Given the description of an element on the screen output the (x, y) to click on. 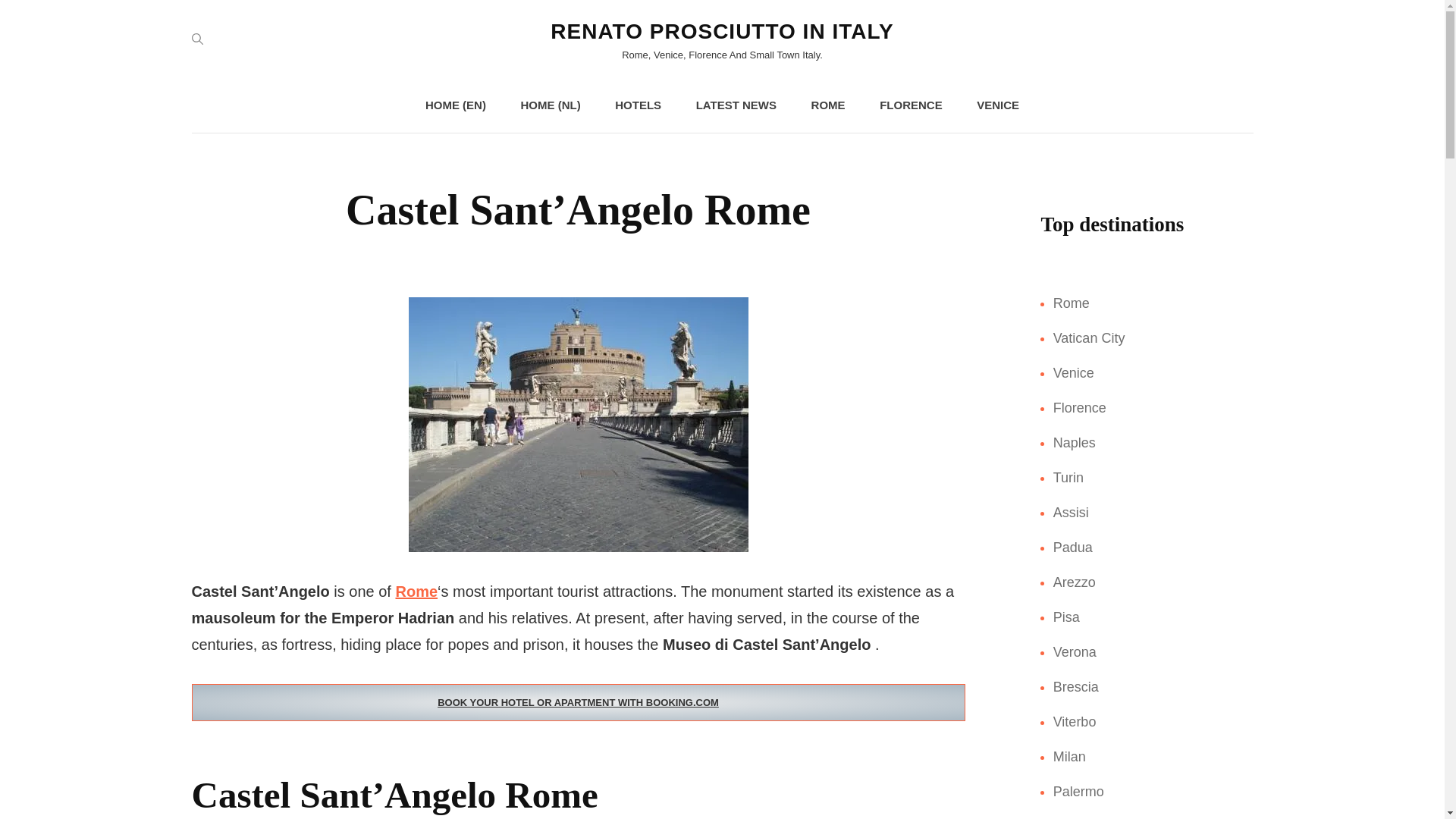
LATEST NEWS (736, 104)
Rome (416, 591)
ROME (828, 104)
BOOK YOUR HOTEL OR APARTMENT WITH BOOKING.COM (576, 702)
VENICE (996, 104)
FLORENCE (911, 104)
RENATO PROSCIUTTO IN ITALY (721, 31)
HOTELS (638, 104)
